Given the description of an element on the screen output the (x, y) to click on. 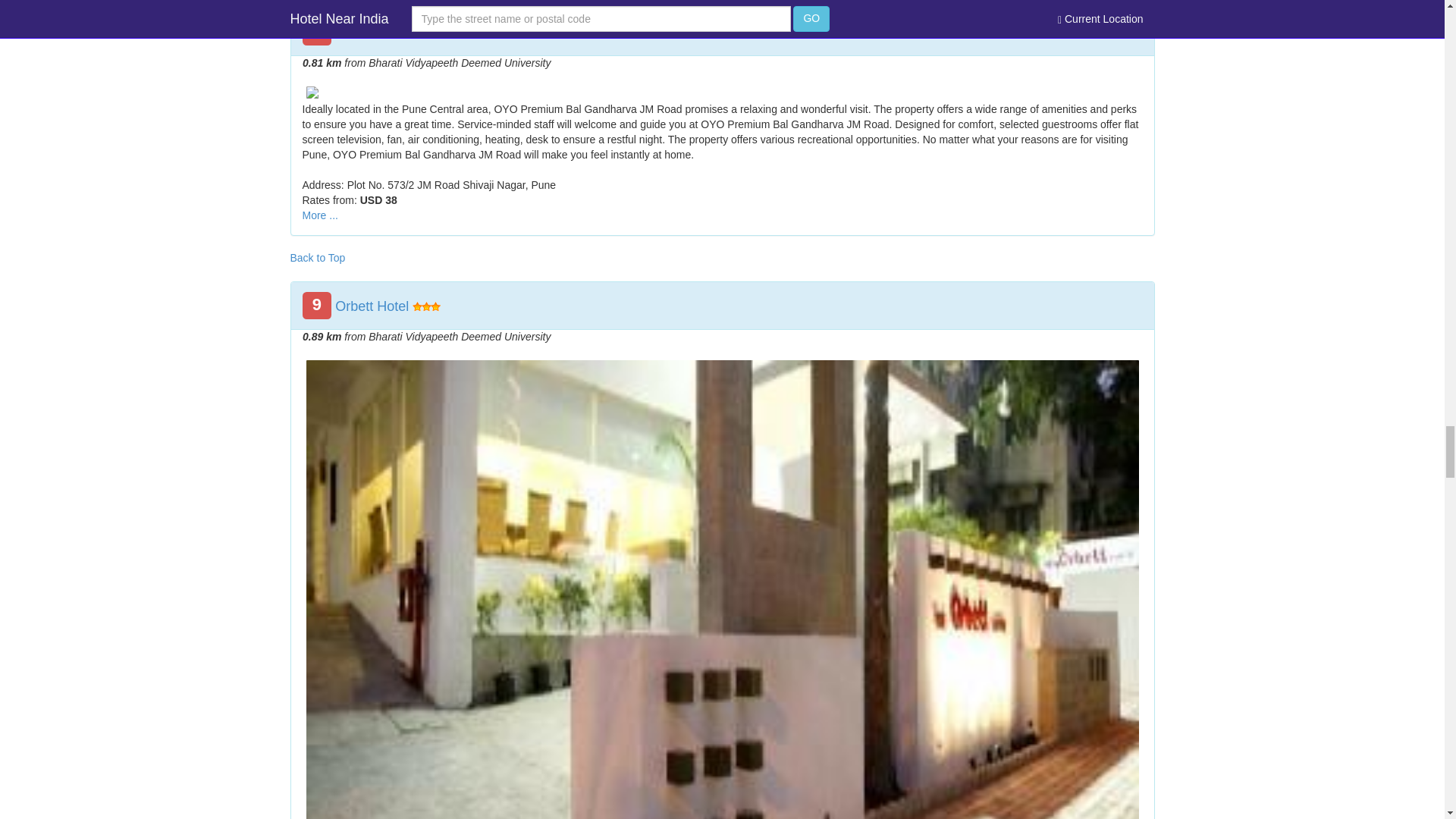
OYO Premium Bal Gandharva JM Road (455, 31)
Orbett Hotel (371, 305)
More ... (319, 215)
Back to Top (317, 257)
